Given the description of an element on the screen output the (x, y) to click on. 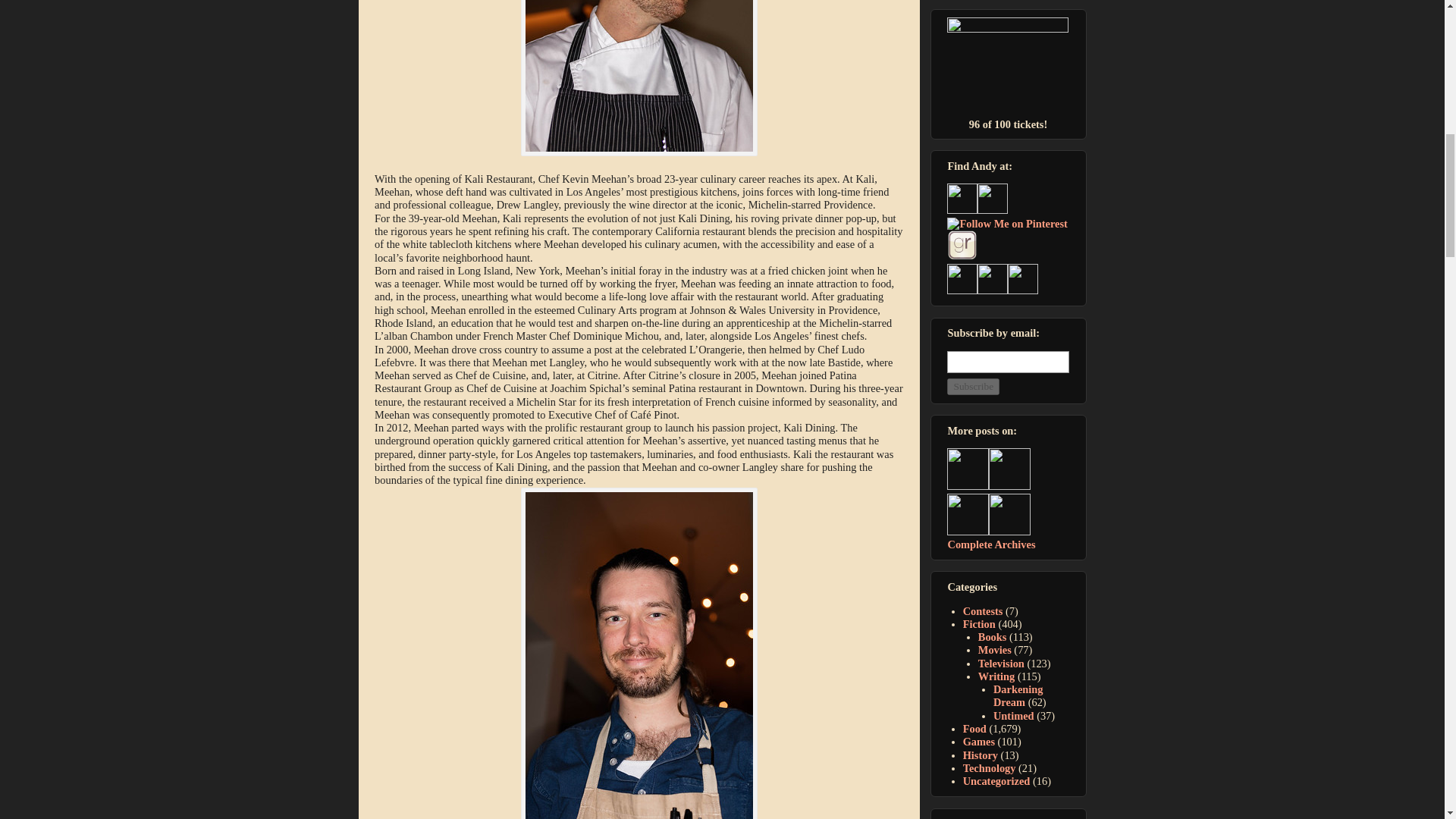
Subscribe (972, 386)
